Given the description of an element on the screen output the (x, y) to click on. 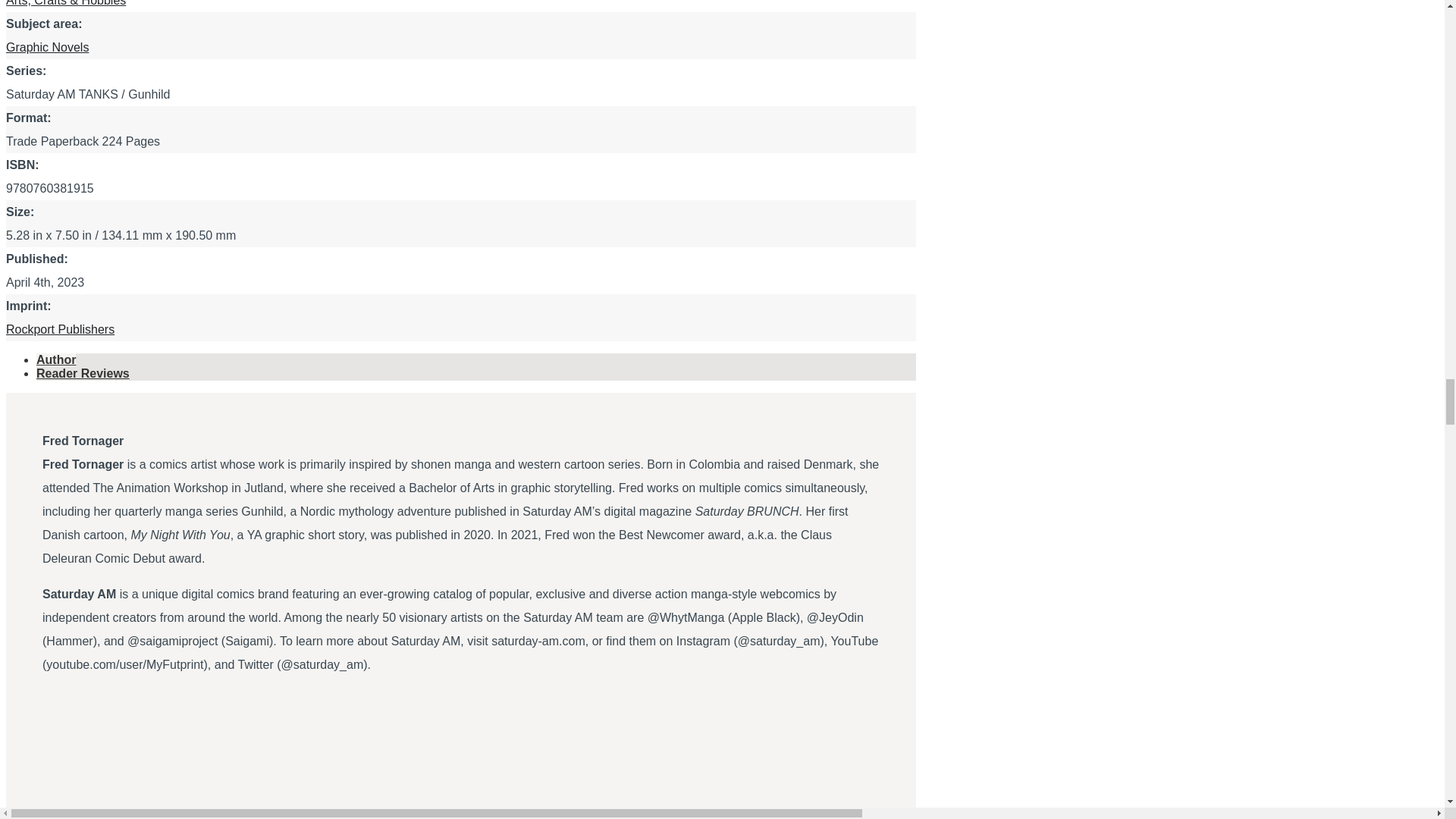
Reader Reviews (60, 328)
Author (82, 373)
